Given the description of an element on the screen output the (x, y) to click on. 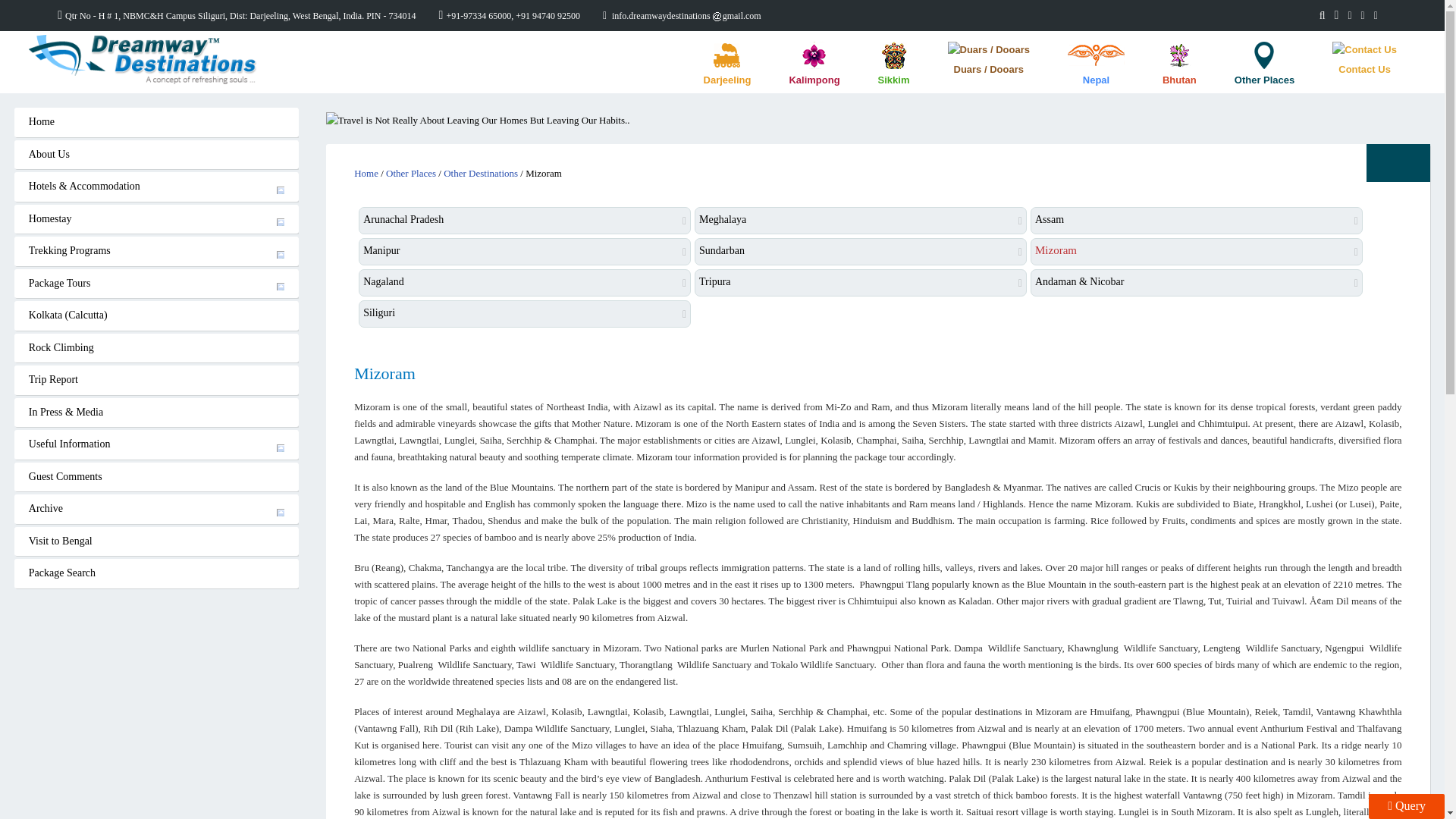
Darjeeling (727, 63)
Dreamway Destinations (143, 59)
Kalimpong (814, 63)
